Given the description of an element on the screen output the (x, y) to click on. 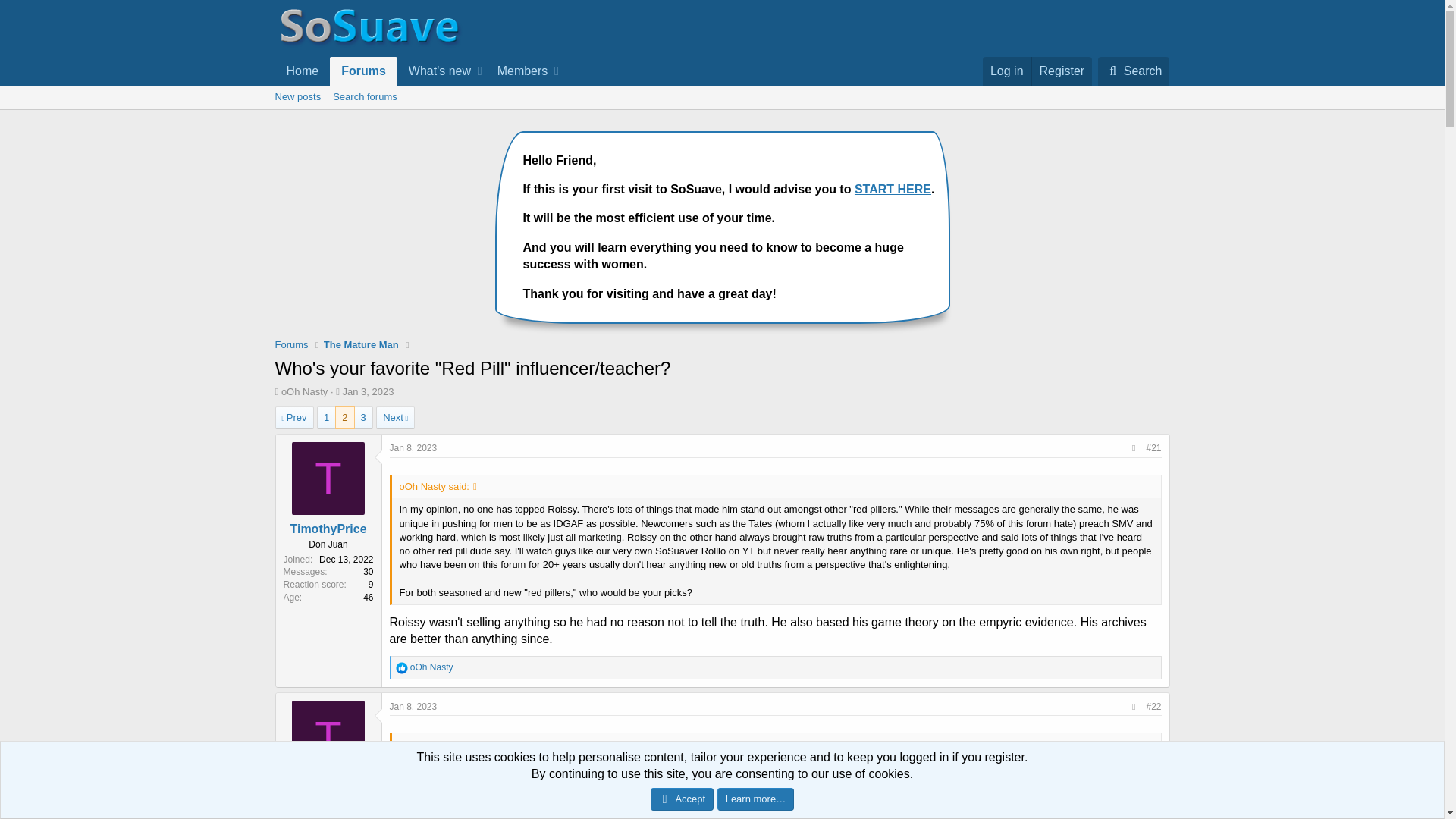
oOh Nasty (304, 391)
Jan 3, 2023 (368, 391)
New posts (296, 96)
Search forums (364, 96)
Register (417, 87)
What's new (1061, 70)
Forums (435, 70)
Jan 8, 2023 at 1:51 PM (291, 344)
Search (414, 448)
Members (1133, 70)
Next (417, 70)
Jan 8, 2023 at 1:53 PM (518, 70)
Home (394, 417)
